Given the description of an element on the screen output the (x, y) to click on. 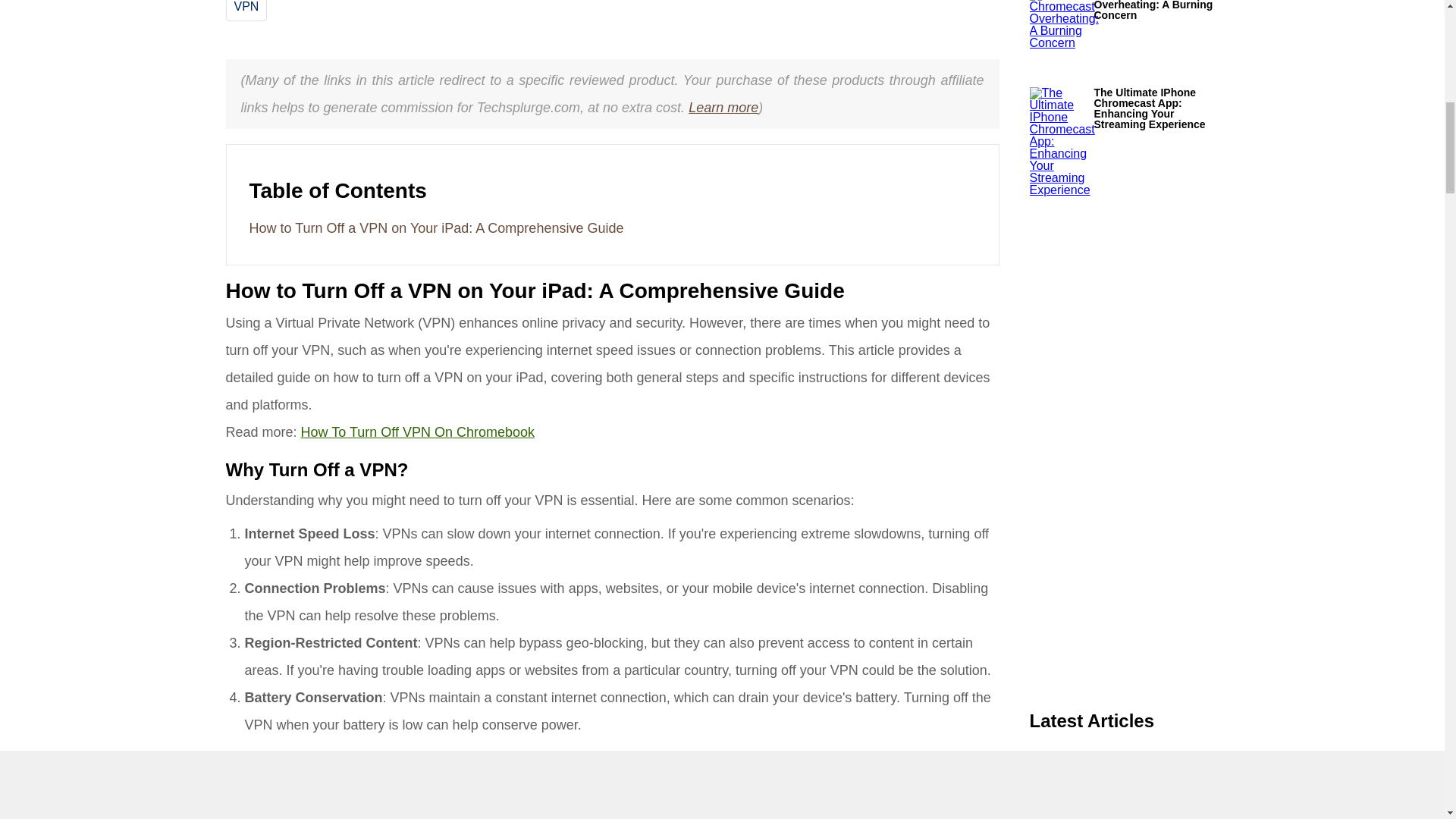
Learn more (723, 107)
VPN (245, 6)
How To Turn Off VPN On Chromebook (417, 432)
How to Turn Off a VPN on Your iPad: A Comprehensive Guide (435, 227)
